Given the description of an element on the screen output the (x, y) to click on. 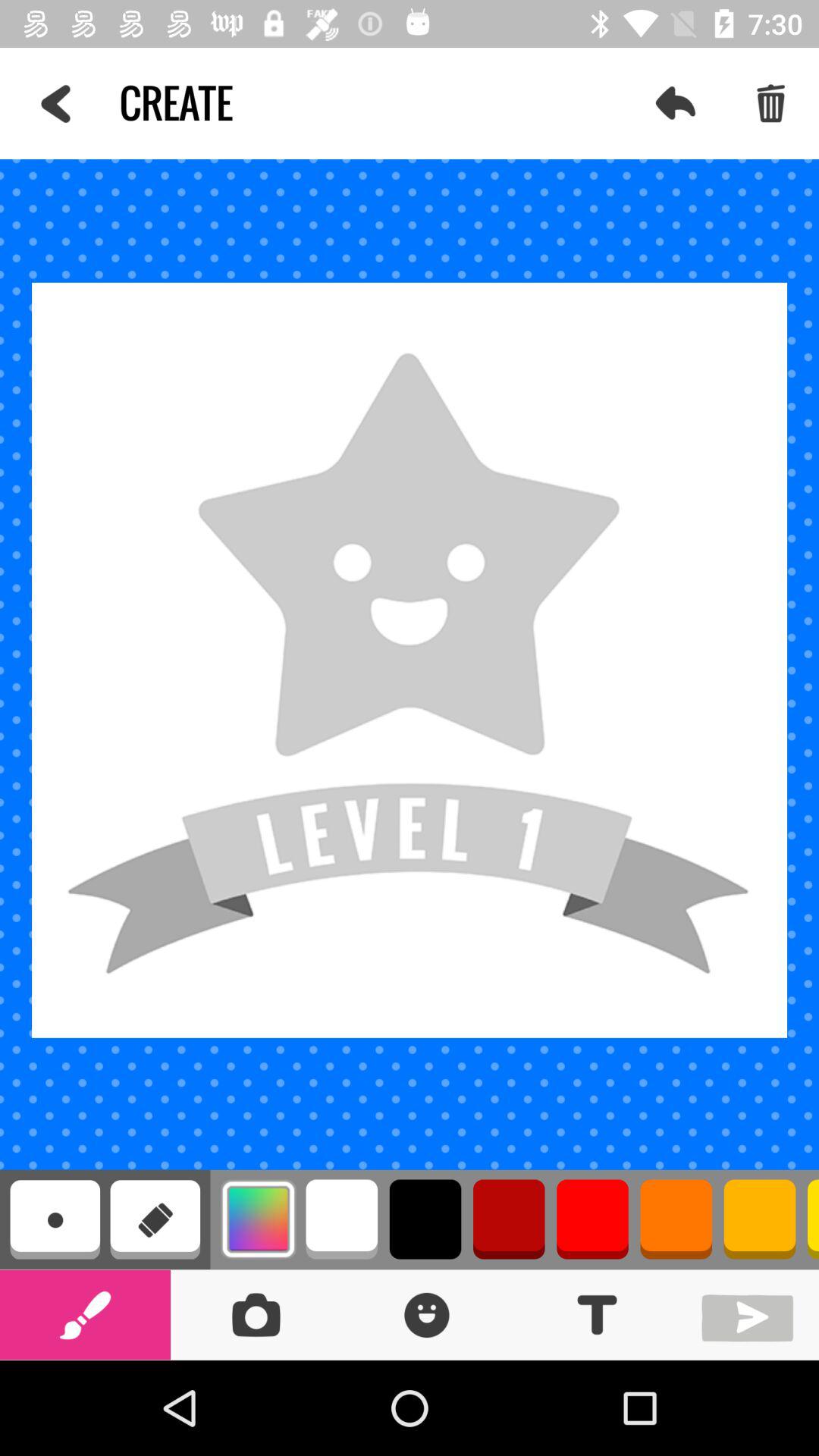
go to camera (255, 1314)
